Given the description of an element on the screen output the (x, y) to click on. 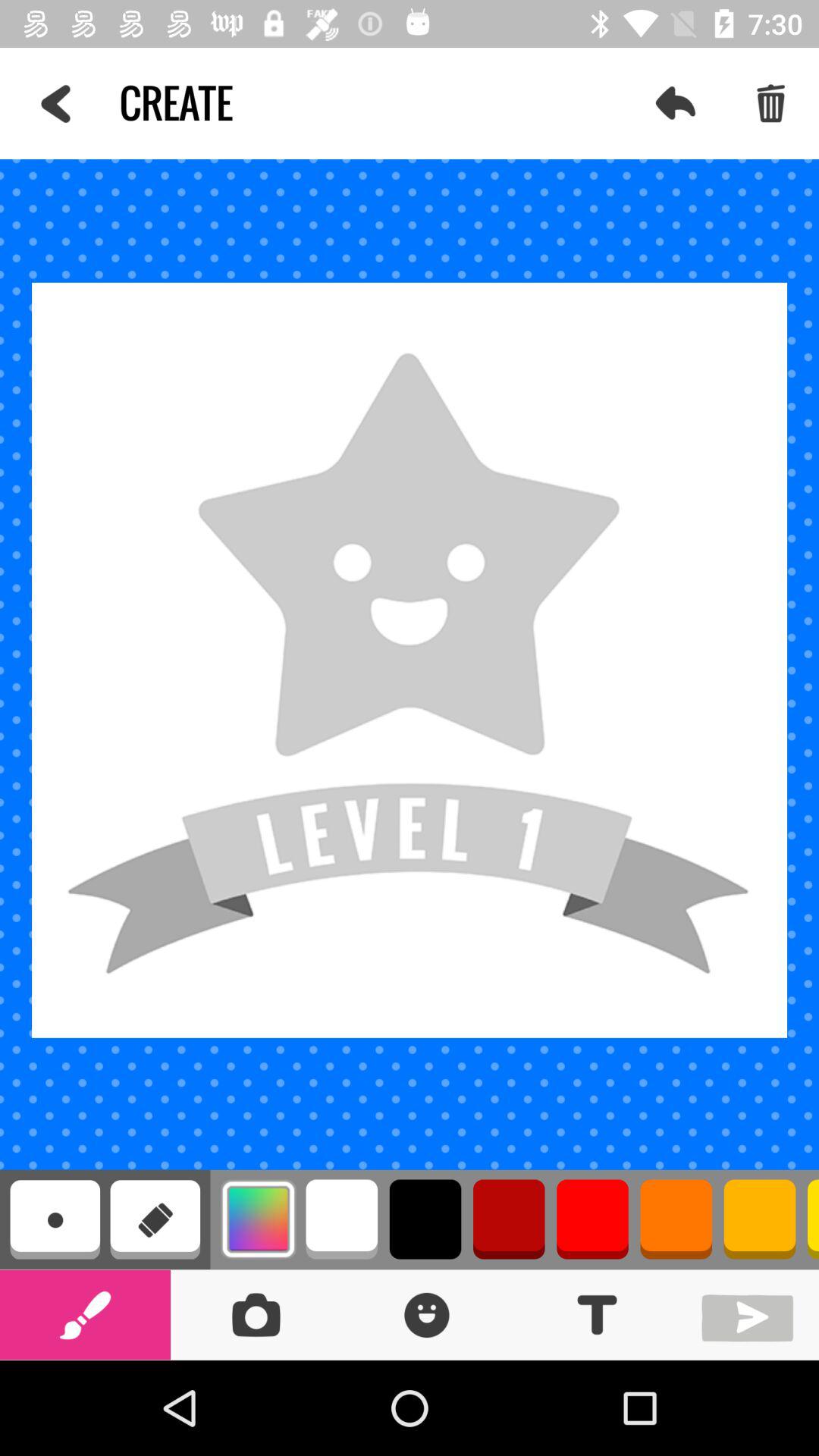
go to camera (255, 1314)
